Given the description of an element on the screen output the (x, y) to click on. 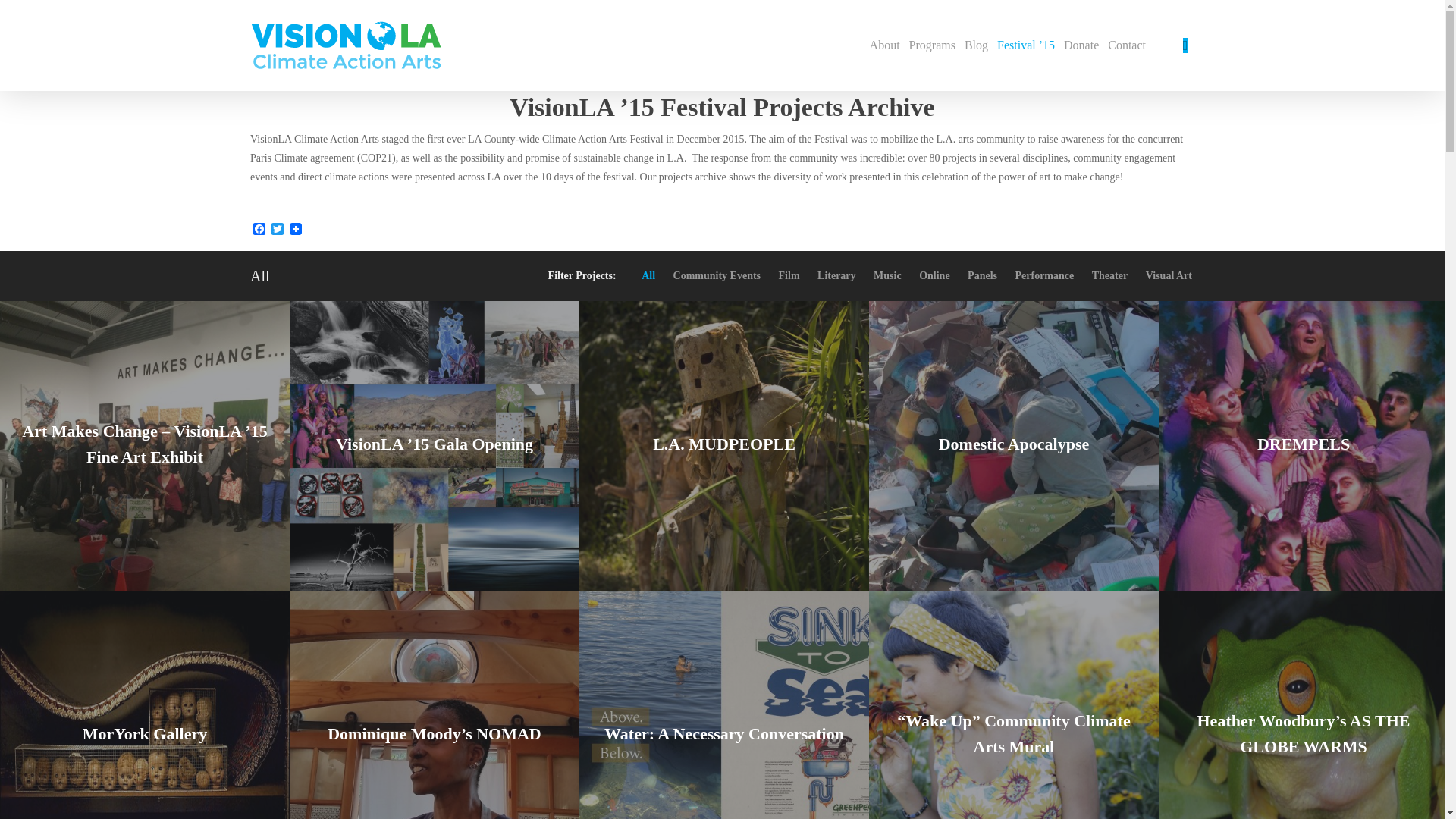
Film (789, 276)
Panels (981, 276)
Performance (1044, 276)
Programs (931, 45)
Facebook (258, 229)
Facebook (258, 229)
Literary (836, 276)
Twitter (276, 229)
Blog (975, 45)
Donate (1081, 45)
Contact (1126, 45)
search (1184, 45)
All (647, 276)
Community Events (716, 276)
About (884, 45)
